Given the description of an element on the screen output the (x, y) to click on. 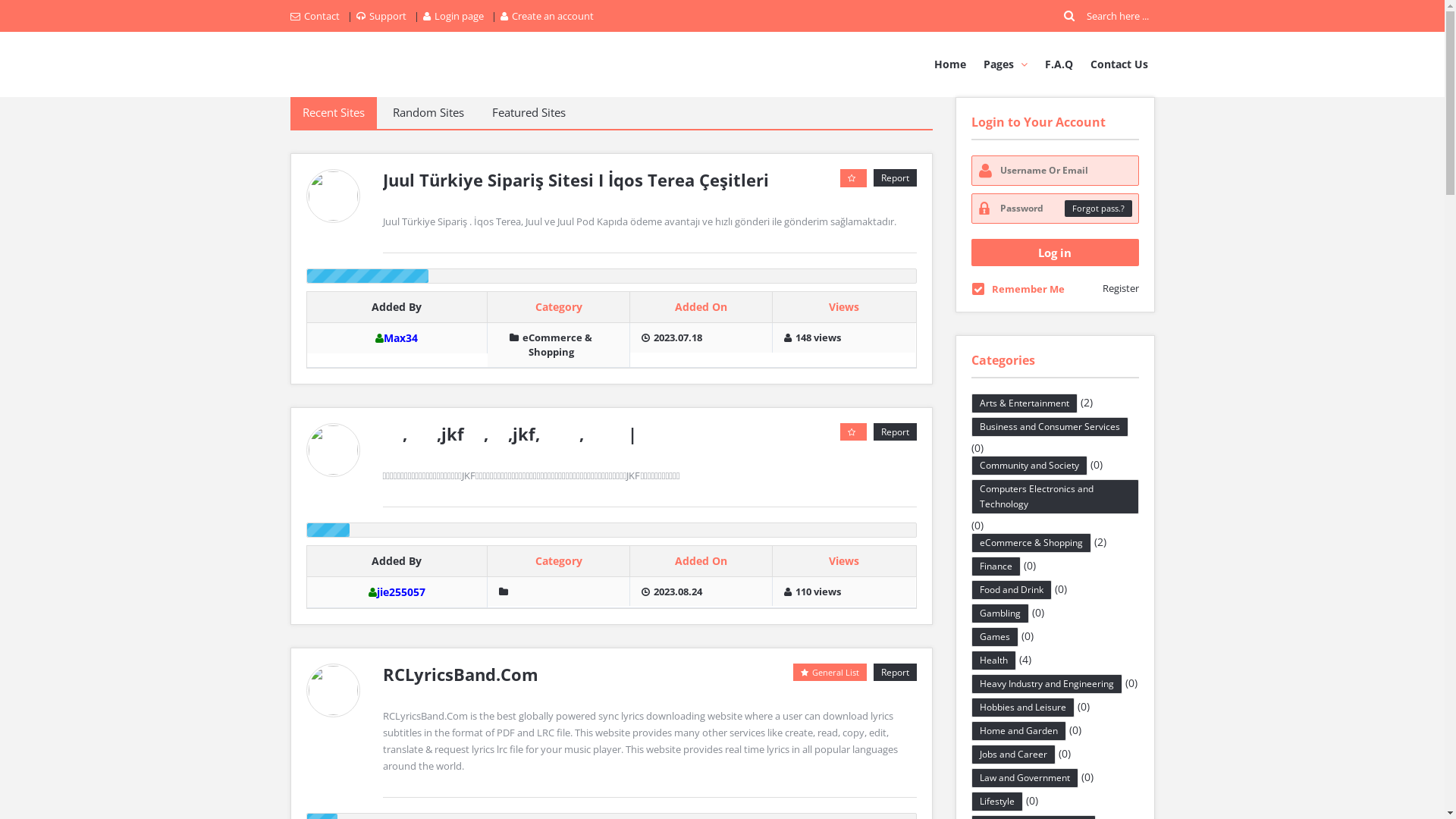
Finance Element type: text (995, 566)
Gambling Element type: text (1000, 613)
Max34 Element type: text (400, 337)
Food and Drink Element type: text (1011, 589)
Register Element type: text (1120, 287)
RCLyricsBand.Com Element type: text (459, 673)
Law and Government Element type: text (1024, 777)
Lifestyle Element type: text (996, 801)
Support Element type: text (381, 15)
jie255057 Element type: text (400, 591)
Games Element type: text (994, 636)
Login page Element type: text (453, 15)
Pages Element type: text (1005, 64)
Hobbies and Leisure Element type: text (1022, 707)
F.A.Q Element type: text (1058, 64)
Report Element type: text (894, 671)
eCommerce & Shopping Element type: text (550, 344)
Report Element type: text (894, 177)
Log in Element type: text (1055, 252)
Random Sites Element type: text (428, 112)
Arts & Entertainment Element type: text (1024, 403)
Heavy Industry and Engineering Element type: text (1046, 683)
Create an account Element type: text (546, 15)
Featured Sites Element type: text (528, 112)
Report Element type: text (894, 431)
Recent Sites Element type: text (332, 112)
Contact Element type: text (313, 15)
Forgot pass.? Element type: text (1098, 208)
Health Element type: text (993, 660)
Contact Us Element type: text (1118, 64)
Business and Consumer Services Element type: text (1049, 426)
Jobs and Career Element type: text (1013, 754)
eCommerce & Shopping Element type: text (1031, 542)
Community and Society Element type: text (1029, 465)
Computers Electronics and Technology Element type: text (1055, 496)
Home Element type: text (949, 64)
Home and Garden Element type: text (1018, 730)
